Given the description of an element on the screen output the (x, y) to click on. 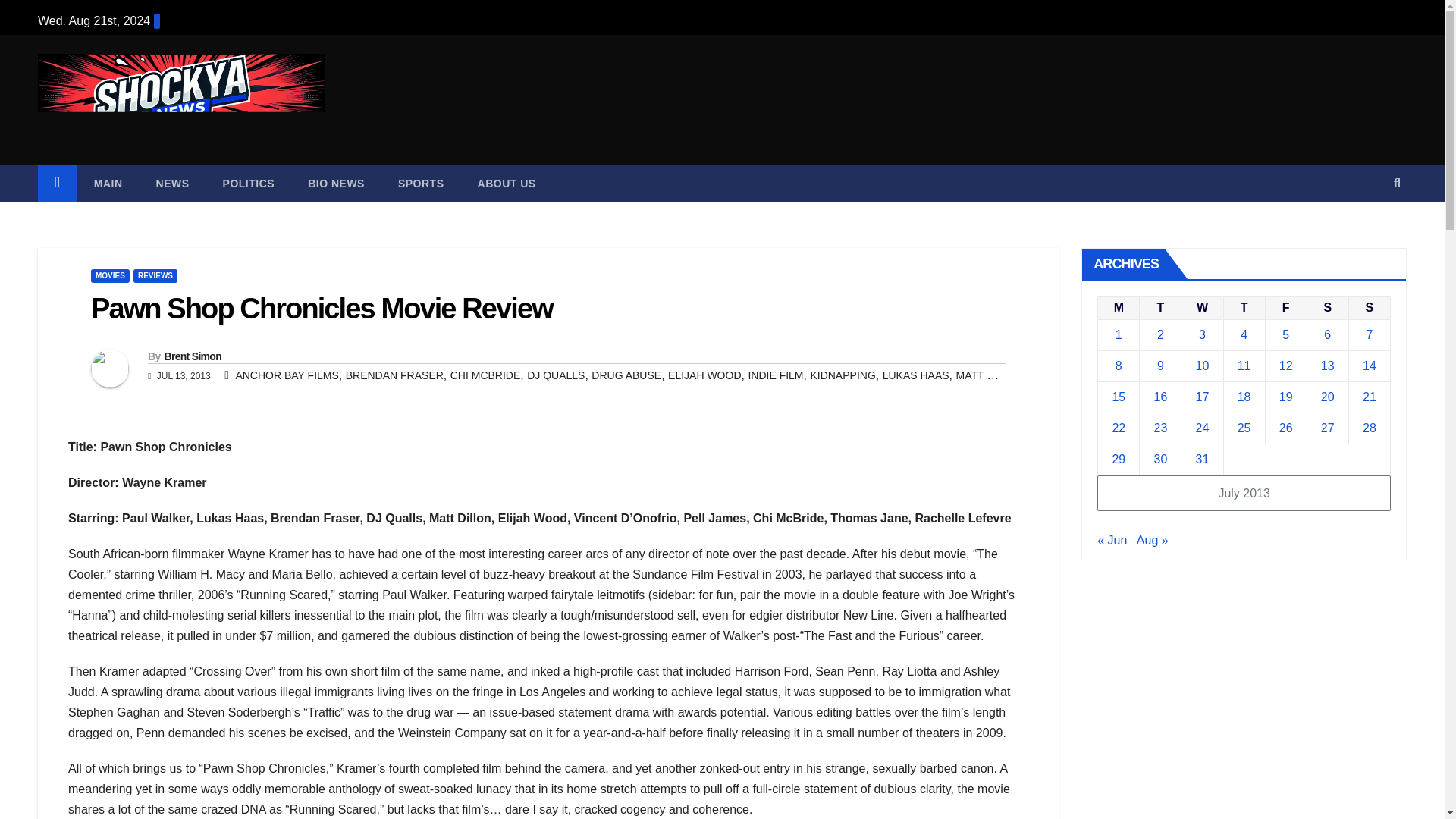
SPORTS (421, 183)
SPORTS (421, 183)
Sunday (1369, 307)
ABOUT US (507, 183)
BIO NEWS (336, 183)
POLITICS (249, 183)
INDIE FILM (775, 375)
Monday (1118, 307)
Saturday (1327, 307)
MOVIES (109, 275)
